Given the description of an element on the screen output the (x, y) to click on. 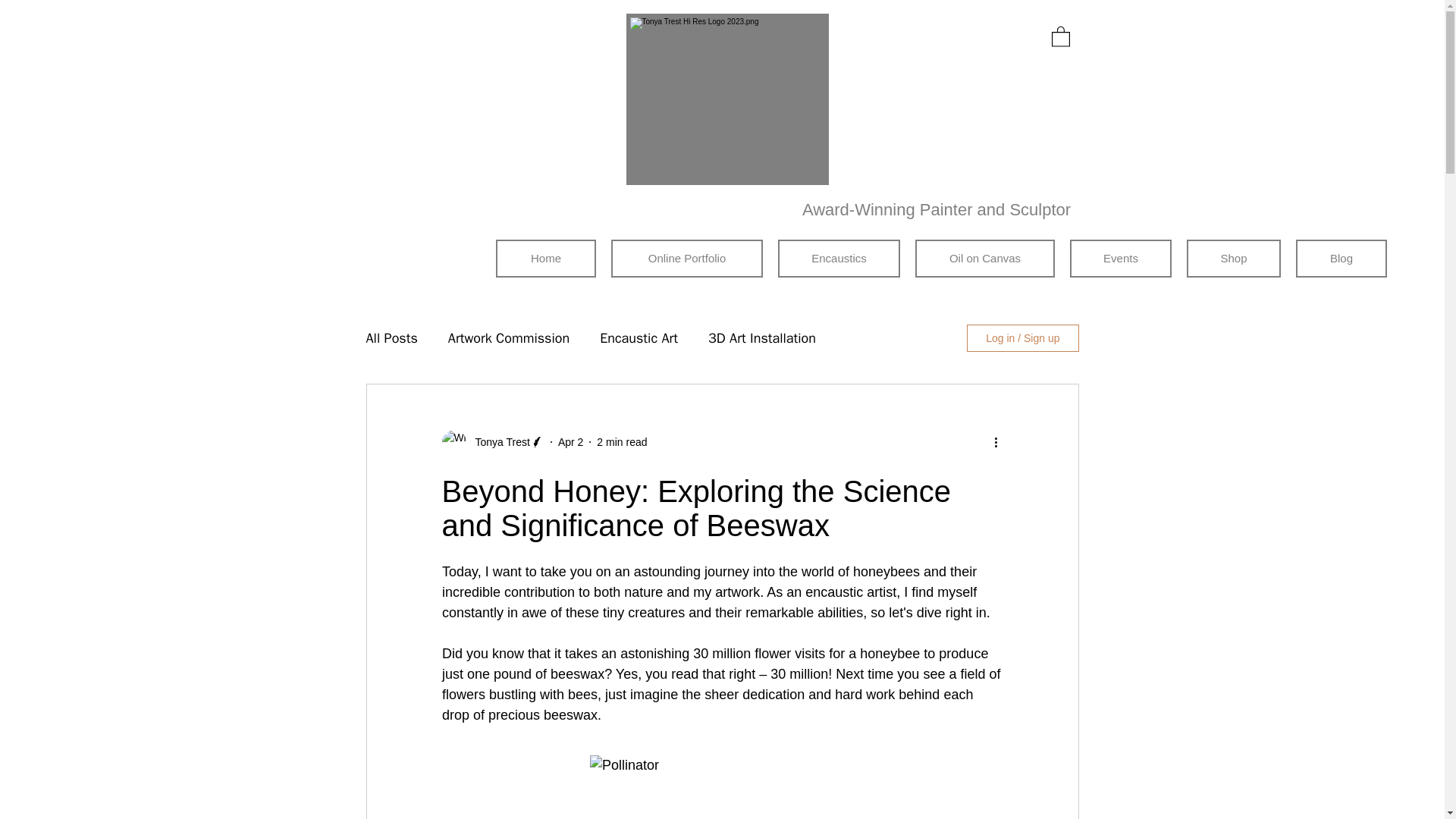
Encaustic Art (638, 338)
Encaustics (838, 258)
Shop (1233, 258)
Blog (1341, 258)
Artwork Commission (508, 338)
Events (1121, 258)
Oil on Canvas (984, 258)
All Posts (390, 338)
Home (545, 258)
Tonya Trest (497, 441)
Online Portfolio (686, 258)
Apr 2 (570, 440)
2 min read (621, 440)
3D Art Installation (761, 338)
